Given the description of an element on the screen output the (x, y) to click on. 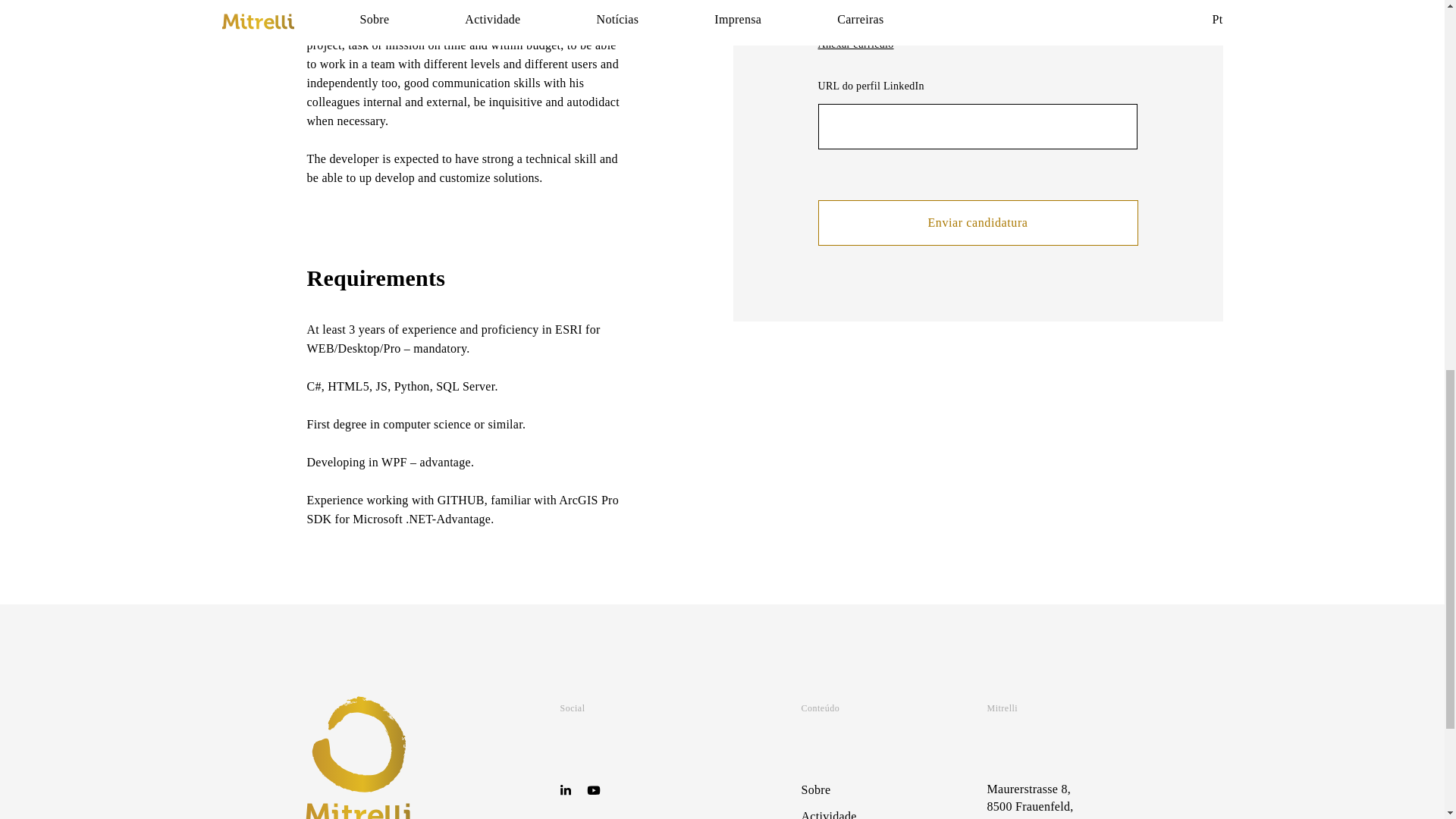
Actividade (828, 814)
Enviar candidatura (976, 222)
Enviar candidatura (976, 222)
Sobre (814, 789)
